Given the description of an element on the screen output the (x, y) to click on. 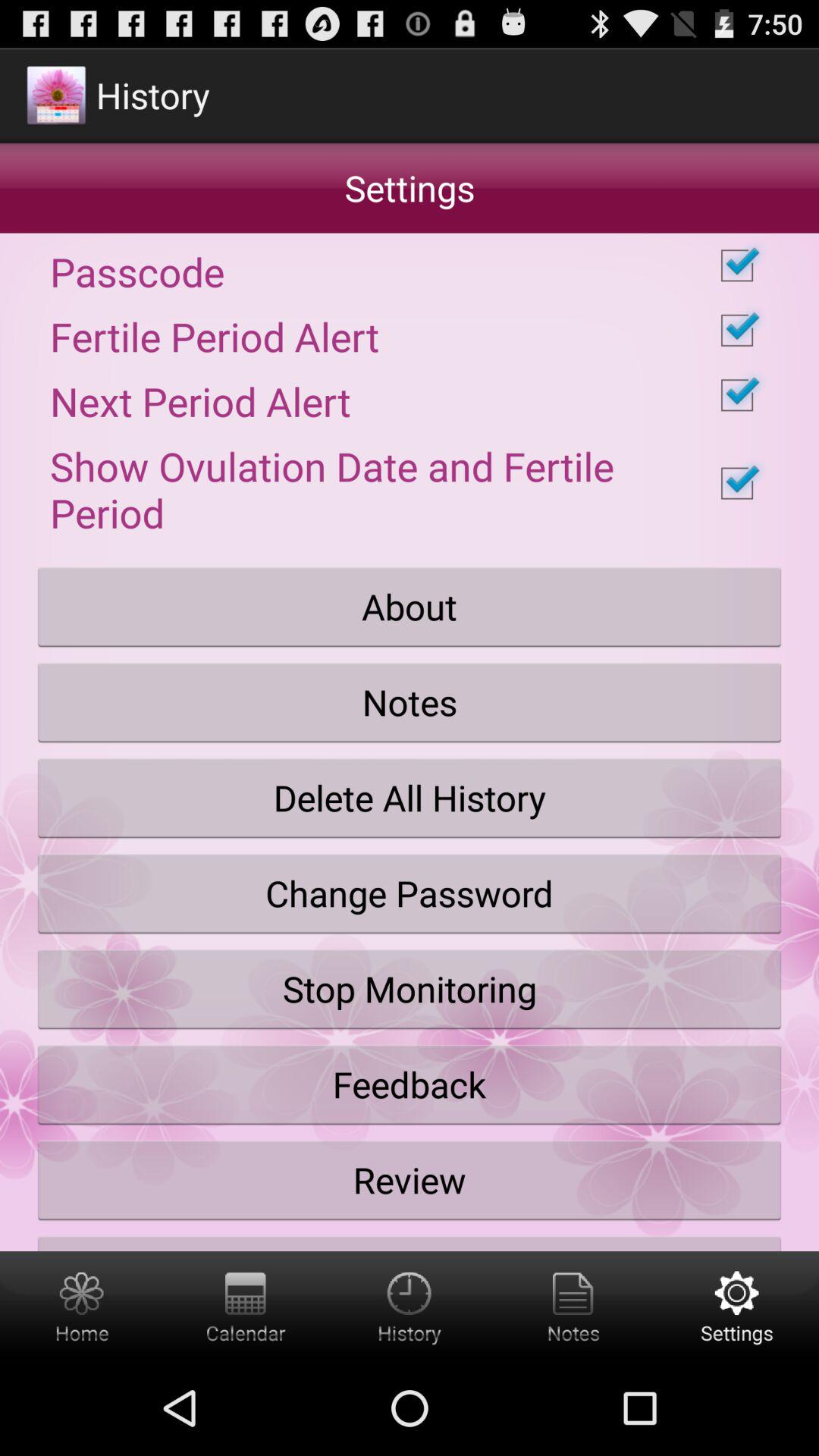
settings button (737, 1305)
